Given the description of an element on the screen output the (x, y) to click on. 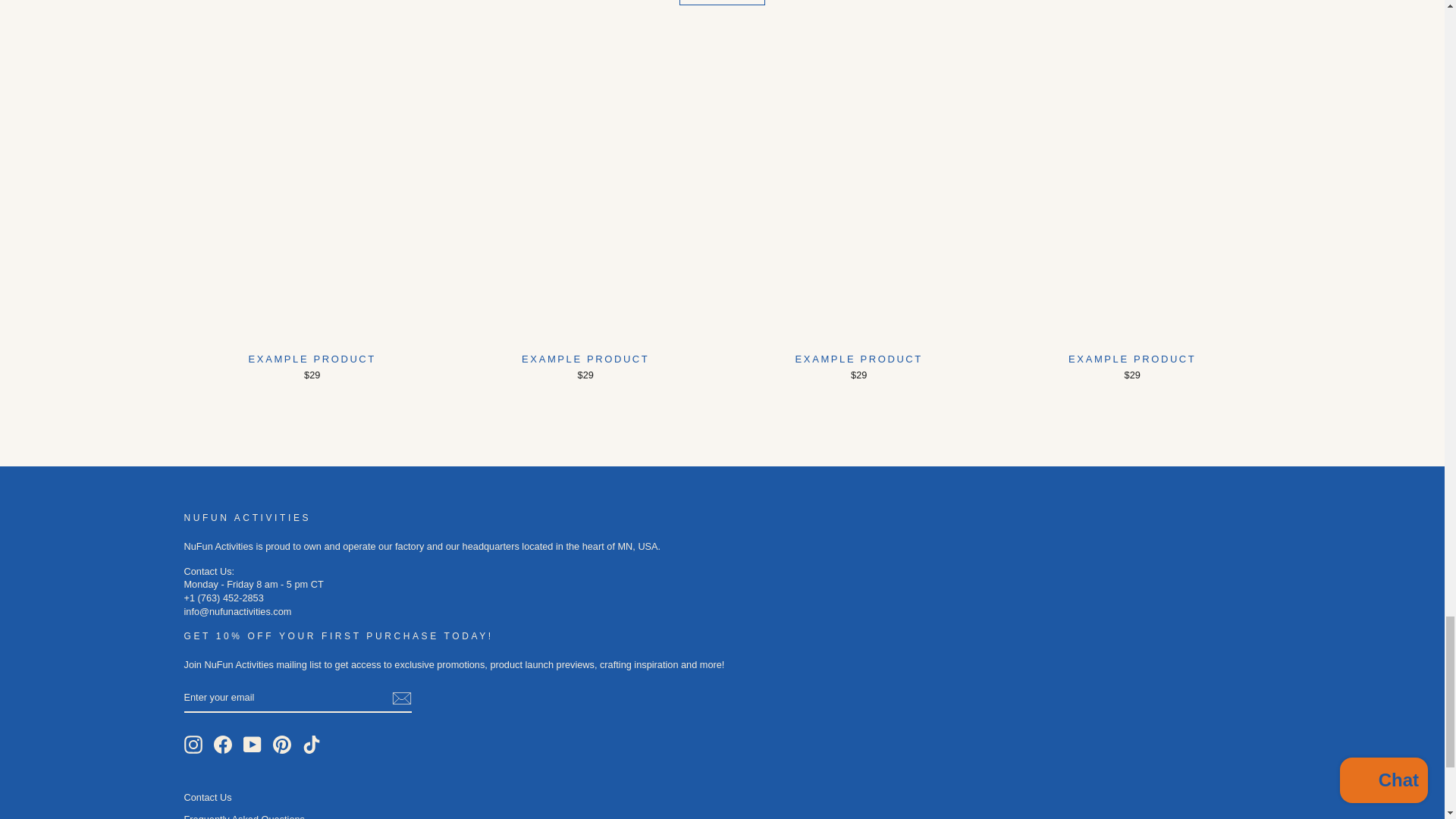
NuFun Activities on Instagram (192, 744)
